Given the description of an element on the screen output the (x, y) to click on. 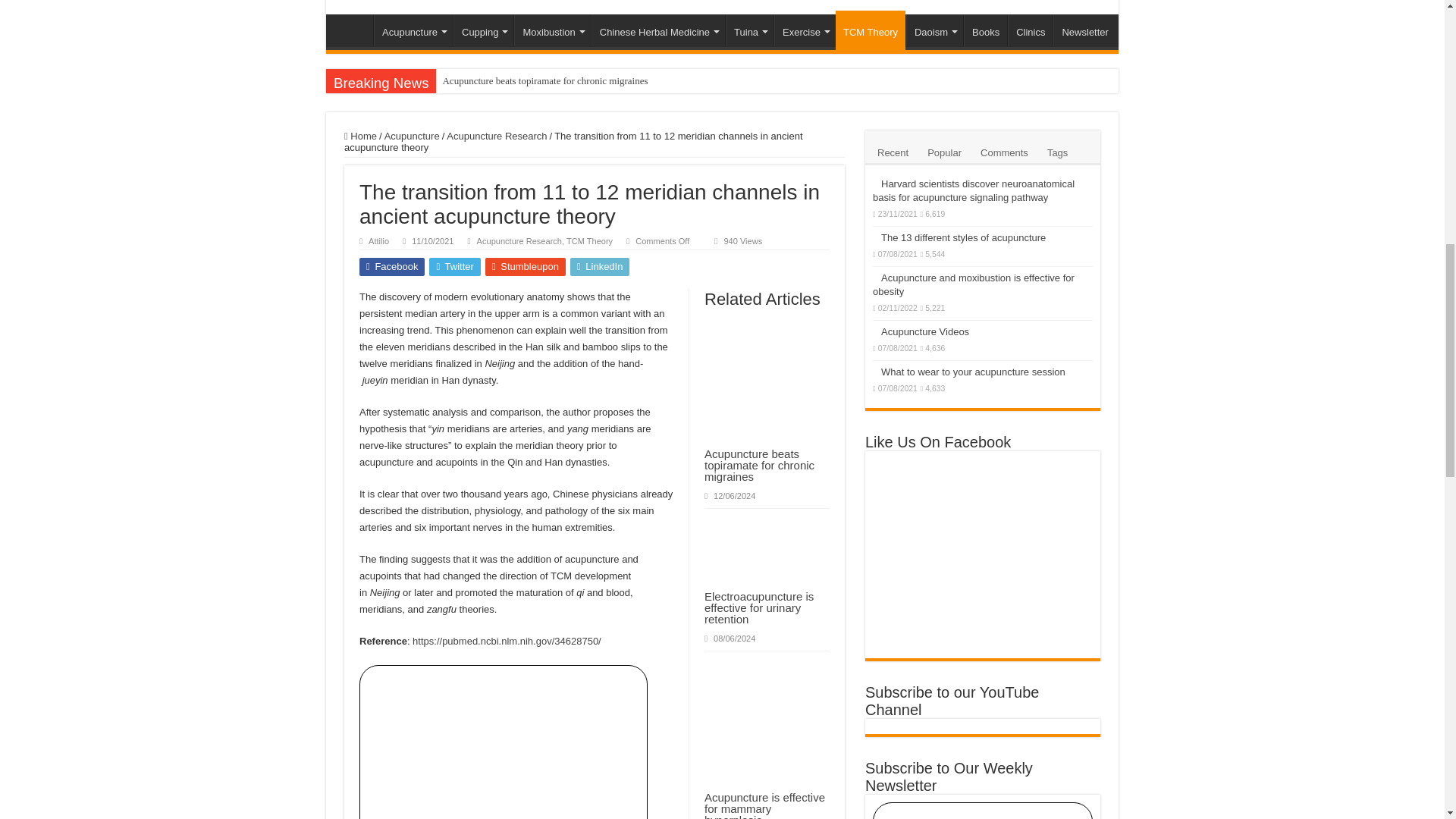
Cupping (482, 29)
Tuina (749, 29)
Home (352, 29)
Acupuncture (413, 29)
Moxibustion (551, 29)
Chinese Herbal Medicine (658, 29)
